Given the description of an element on the screen output the (x, y) to click on. 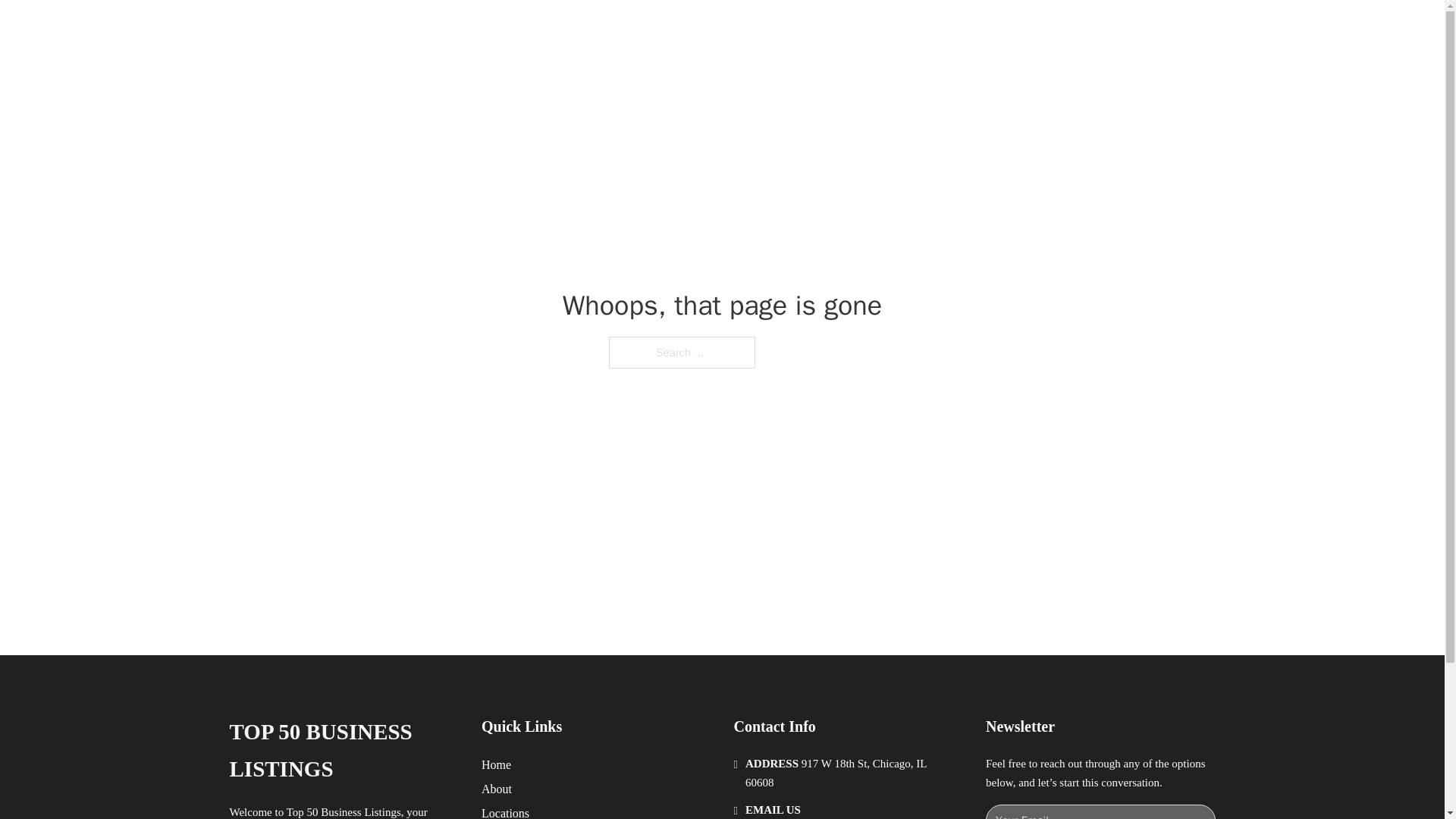
TOP 50 BUSINESS LISTINGS (447, 28)
HOME (919, 29)
Locations (505, 811)
About (496, 788)
LOCATIONS (990, 29)
Home (496, 764)
TOP 50 BUSINESS LISTINGS (343, 750)
